Given the description of an element on the screen output the (x, y) to click on. 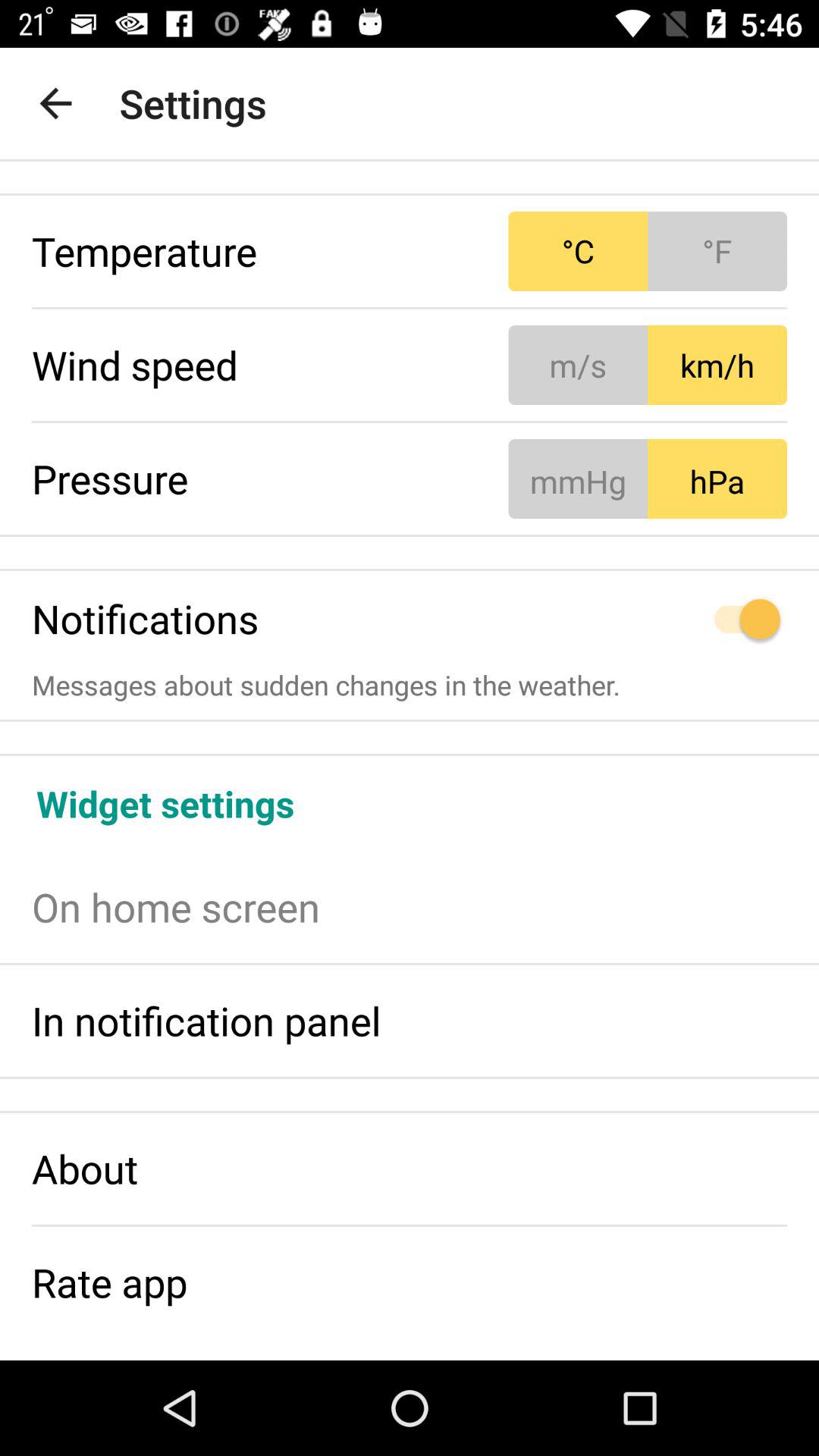
open item below widget settings (409, 906)
